Given the description of an element on the screen output the (x, y) to click on. 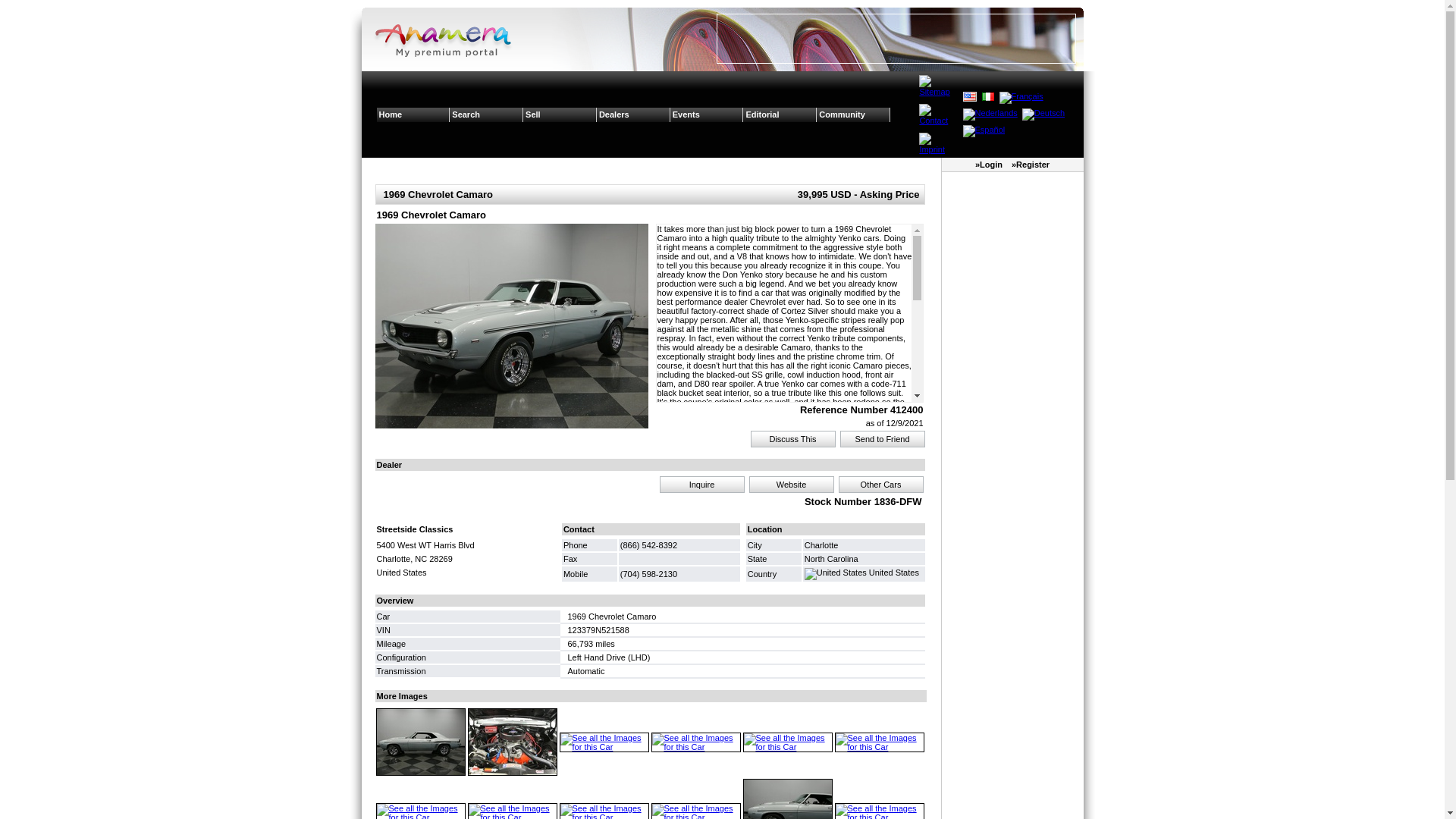
See all the Images for this Car Element type: hover (420, 741)
Other Cars Element type: text (880, 484)
See all the Images for this Car Element type: hover (695, 742)
See all the Images for this Car Element type: hover (511, 741)
Home Element type: text (413, 113)
Search Element type: text (485, 113)
Community Element type: text (853, 113)
Sell Element type: text (559, 113)
Inquire Element type: text (701, 484)
See all the Images for this Car Element type: hover (878, 742)
Website Element type: text (790, 484)
See all the Images for this Car Element type: hover (604, 742)
See all the Images for this Car Element type: hover (787, 742)
See all the Images for this Car Element type: hover (510, 325)
Editorial Element type: text (779, 113)
Events Element type: text (706, 113)
Discuss This Element type: text (792, 438)
Dealers Element type: text (633, 113)
Send to Friend Element type: text (881, 438)
